Given the description of an element on the screen output the (x, y) to click on. 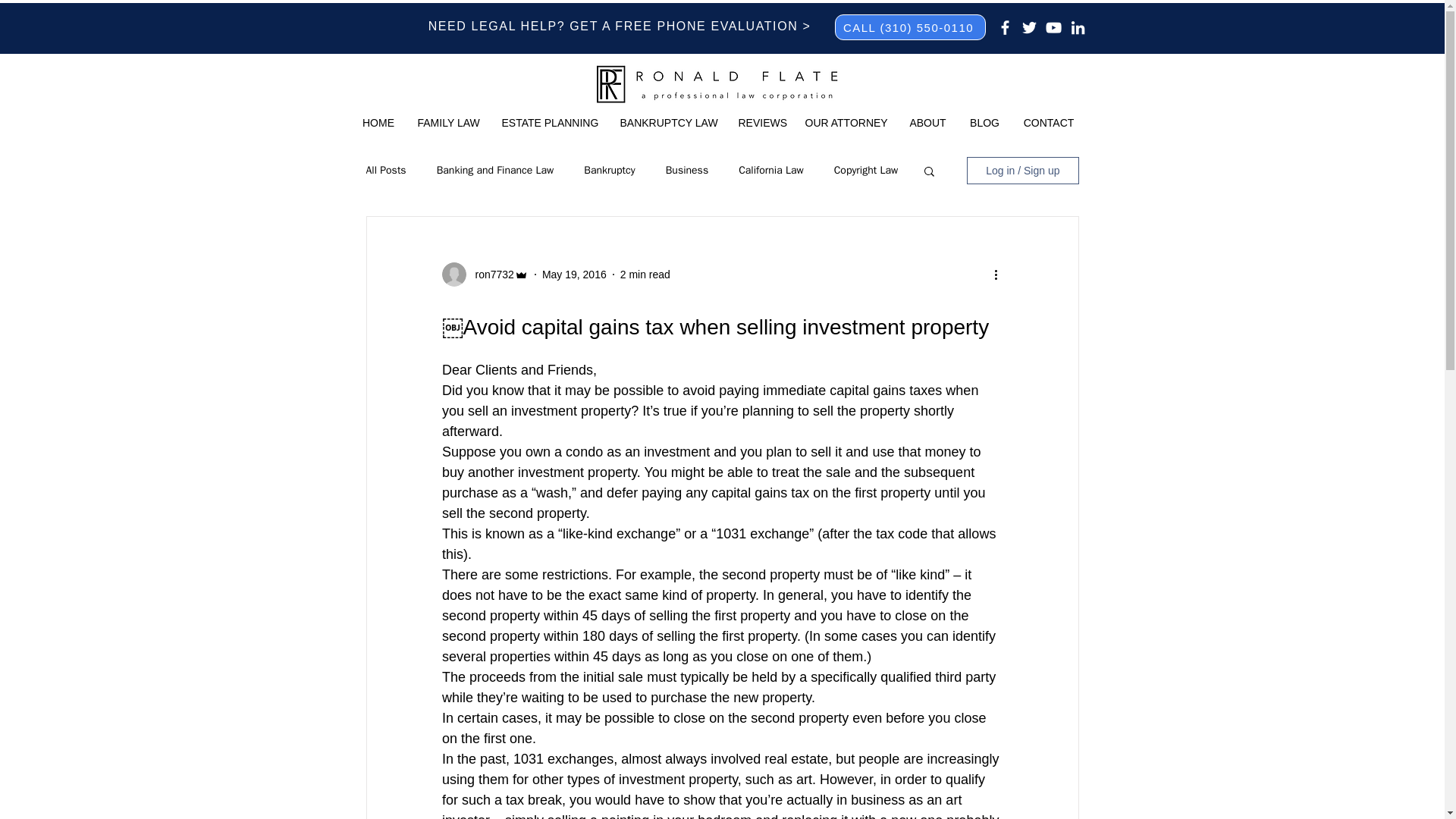
All Posts (385, 170)
FAMILY LAW (448, 122)
HOME (378, 122)
REVIEWS (759, 122)
OUR ATTORNEY (844, 122)
California Law (770, 170)
BLOG (984, 122)
2 min read (644, 274)
ABOUT (928, 122)
ron7732 (489, 274)
